Given the description of an element on the screen output the (x, y) to click on. 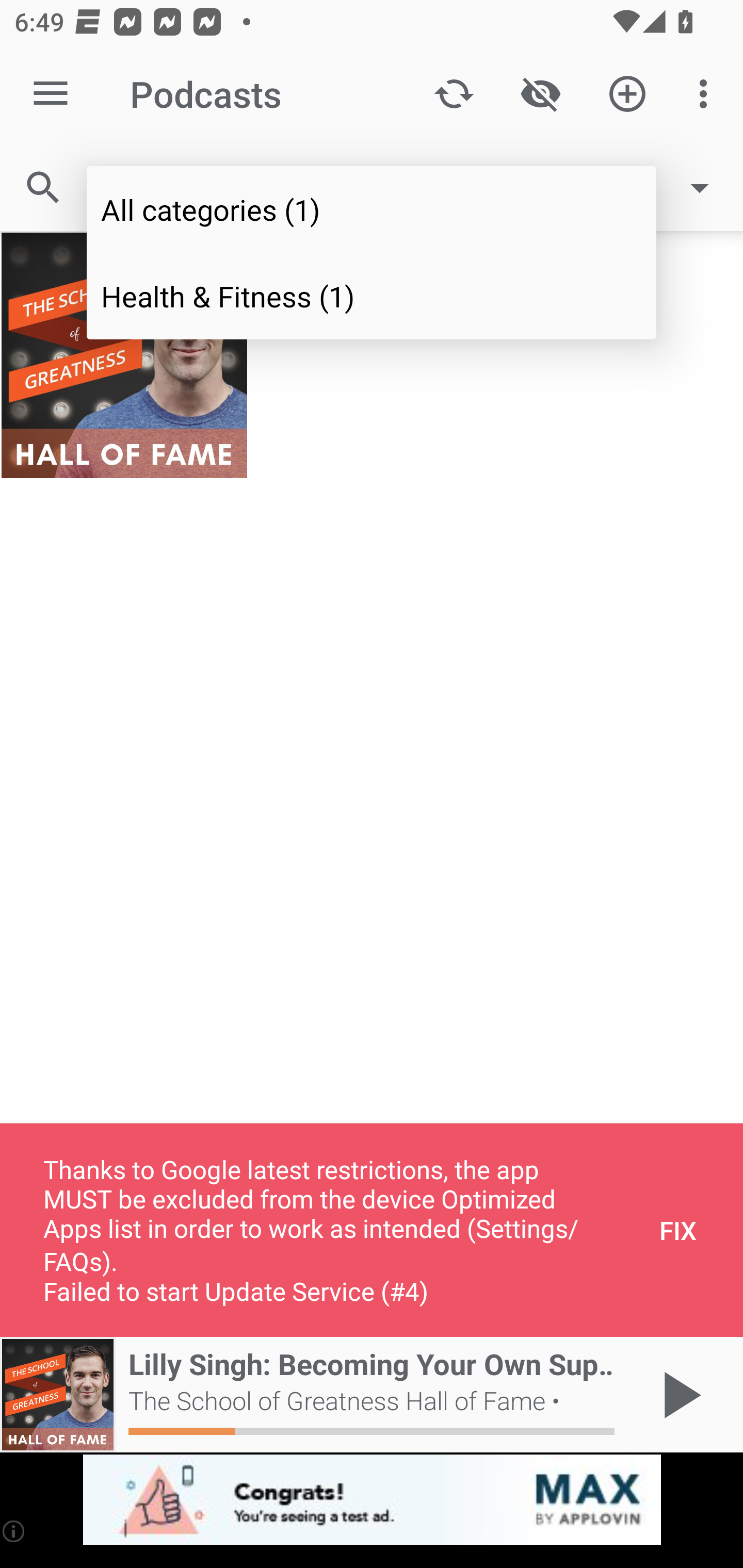
All categories (1) (371, 209)
Health & Fitness (1) (371, 295)
